Given the description of an element on the screen output the (x, y) to click on. 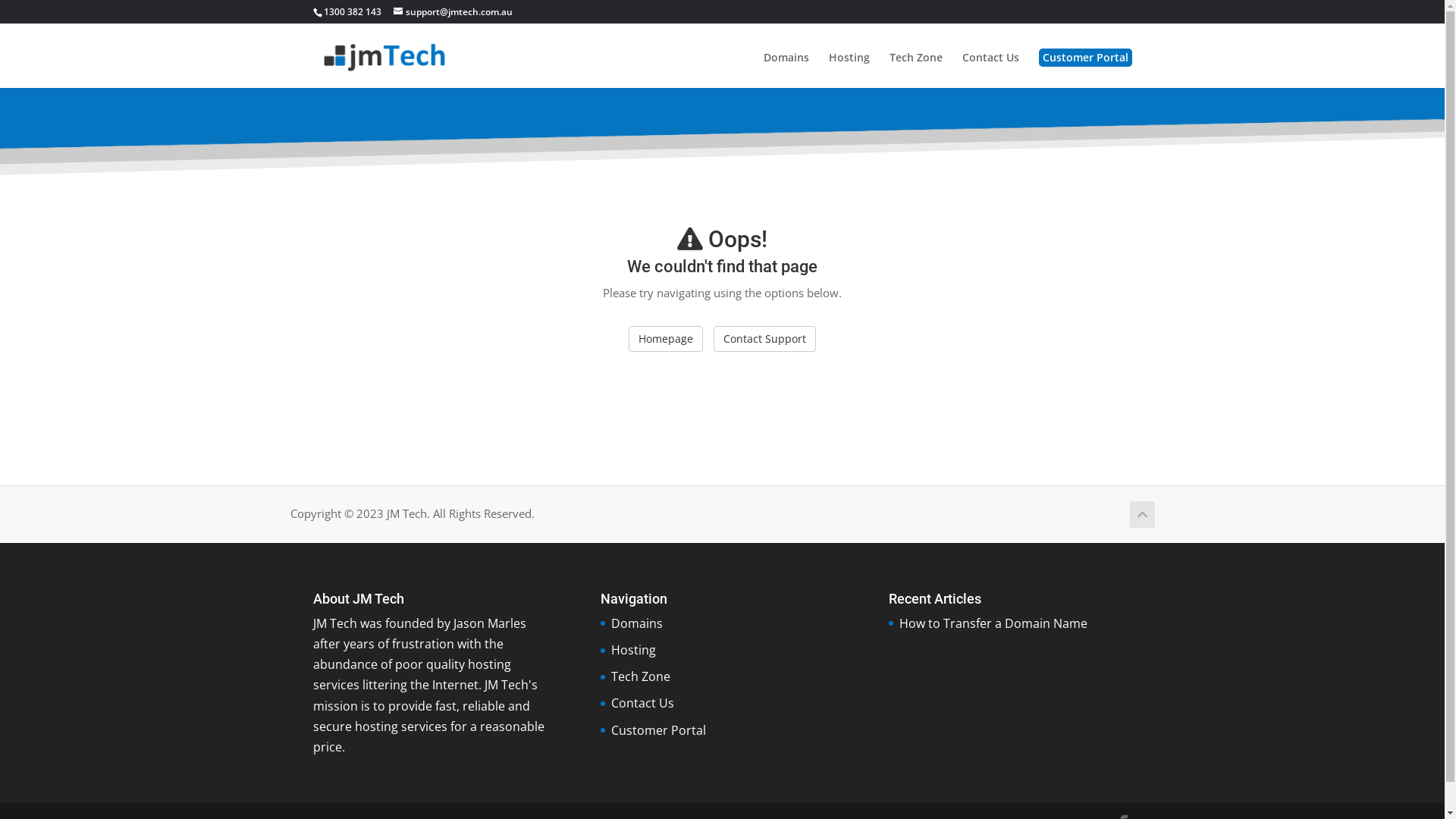
Customer Portal Element type: text (658, 729)
Hosting Element type: text (848, 69)
Contact Us Element type: text (642, 702)
Contact Support Element type: text (764, 338)
Homepage Element type: text (665, 338)
Tech Zone Element type: text (640, 676)
support@jmtech.com.au Element type: text (451, 11)
Domains Element type: text (785, 69)
Domains Element type: text (636, 623)
How to Transfer a Domain Name Element type: text (993, 623)
Contact Us Element type: text (989, 69)
Customer Portal Element type: text (1085, 57)
Tech Zone Element type: text (914, 69)
Hosting Element type: text (633, 649)
